Given the description of an element on the screen output the (x, y) to click on. 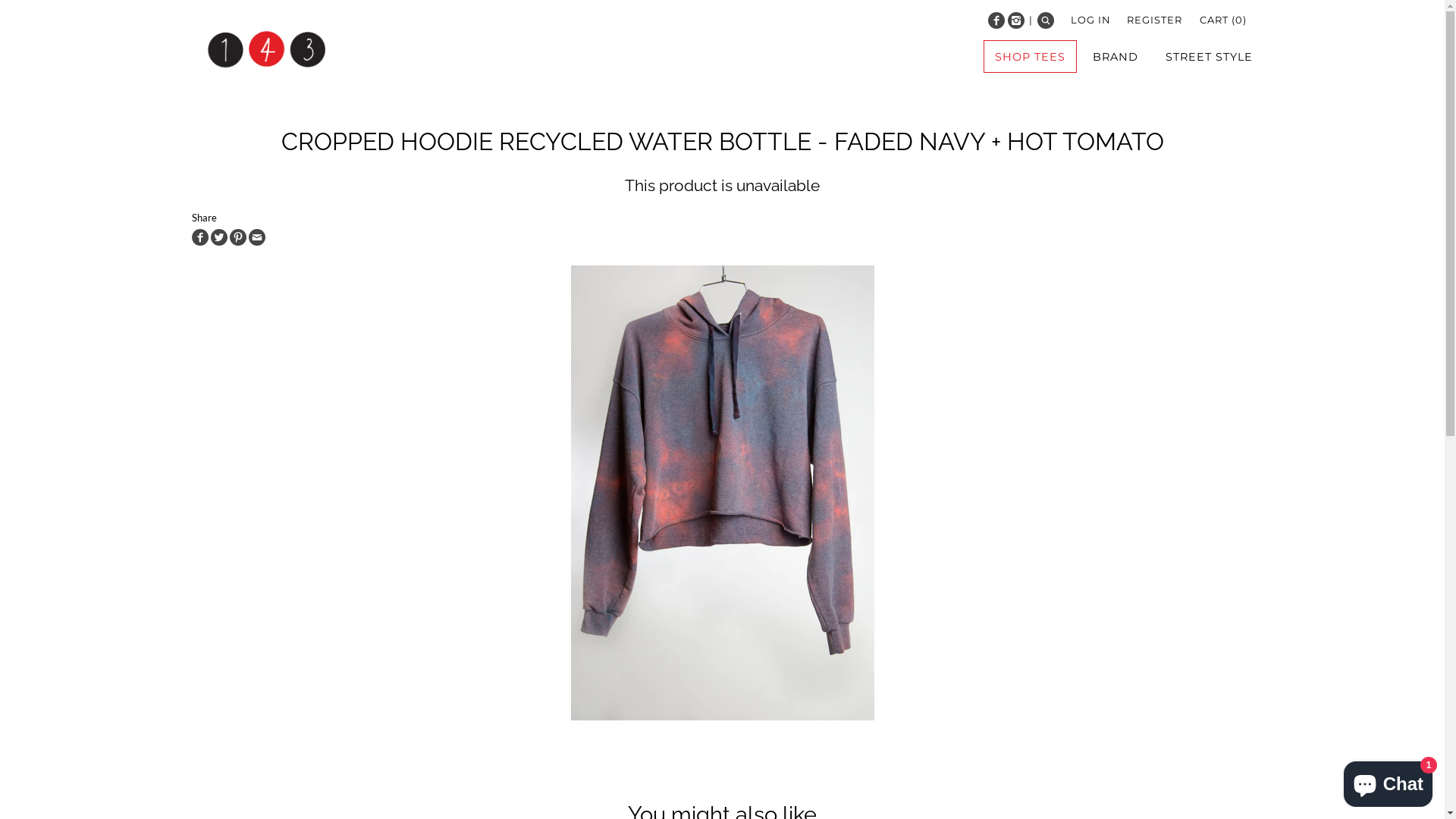
LOG IN Element type: text (1090, 19)
Share on Twitter Element type: hover (218, 237)
BRAND Element type: text (1114, 56)
SHOP TEES Element type: text (1030, 56)
Email this product to somebody Element type: hover (256, 237)
Instagram Element type: hover (1015, 20)
REGISTER Element type: text (1154, 19)
CART (0) Element type: text (1222, 19)
Share on Facebook Element type: hover (199, 237)
Search Element type: hover (1045, 20)
Shopify online store chat Element type: hover (1388, 780)
Facebook Element type: hover (996, 20)
Pin the main image Element type: hover (237, 237)
STREET STYLE Element type: text (1208, 56)
